Given the description of an element on the screen output the (x, y) to click on. 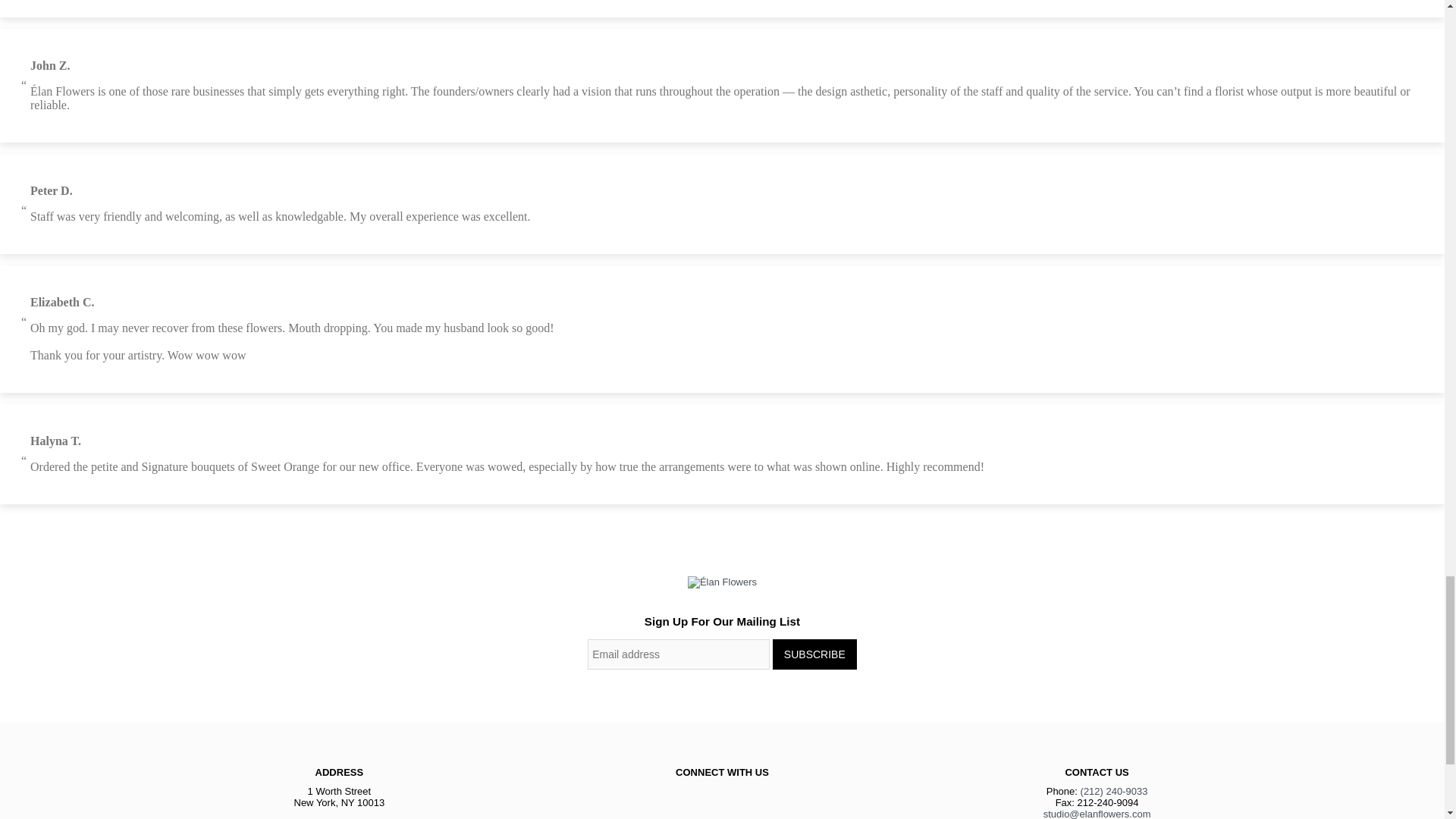
Facebook (689, 792)
YouTube (755, 792)
Instagram (721, 792)
Subscribe (815, 654)
